Given the description of an element on the screen output the (x, y) to click on. 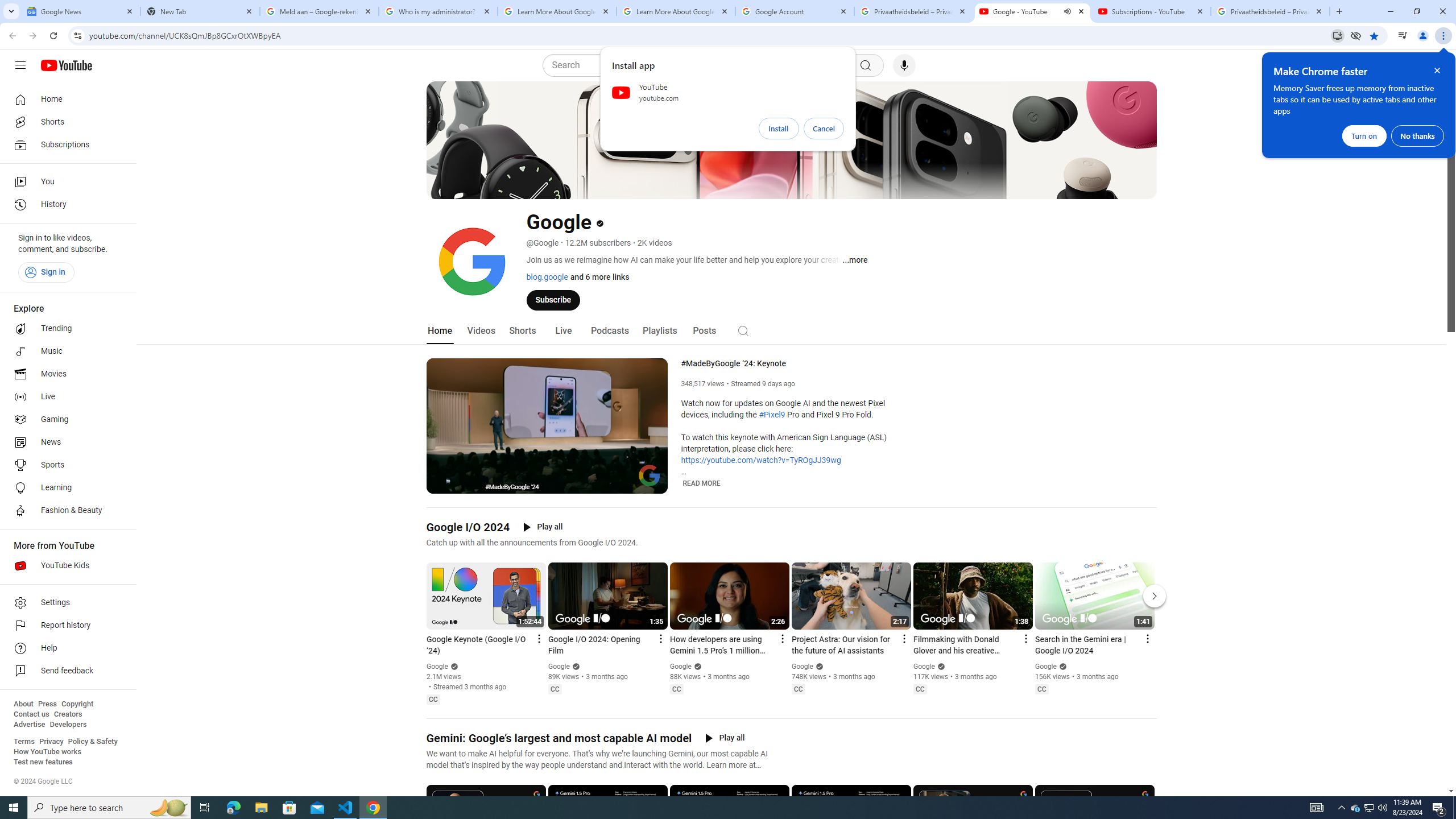
Subtitles/closed captions unavailable (609, 483)
Next (1154, 595)
https://youtube.com/watch?v=TyROgJJ39wg (761, 460)
Podcasts (608, 330)
Mute (m) (463, 483)
